Given the description of an element on the screen output the (x, y) to click on. 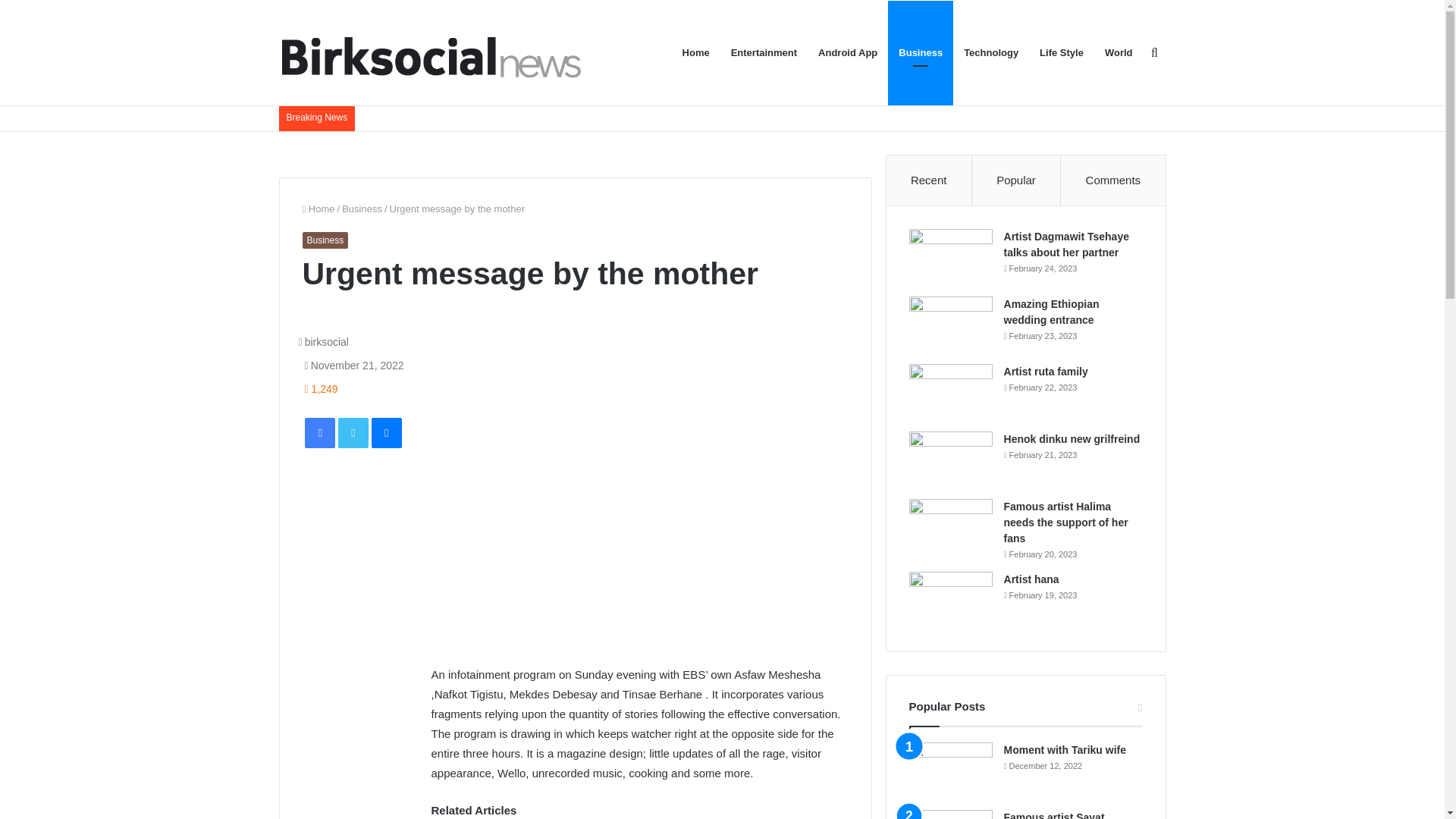
birksocial (323, 341)
Twitter (352, 432)
Birksocial Ethiopian tech source (429, 51)
Twitter (352, 432)
Business (324, 239)
Facebook (319, 432)
birksocial (323, 341)
Facebook (319, 432)
Messenger (386, 432)
Messenger (386, 432)
Home (317, 208)
Business (361, 208)
